Given the description of an element on the screen output the (x, y) to click on. 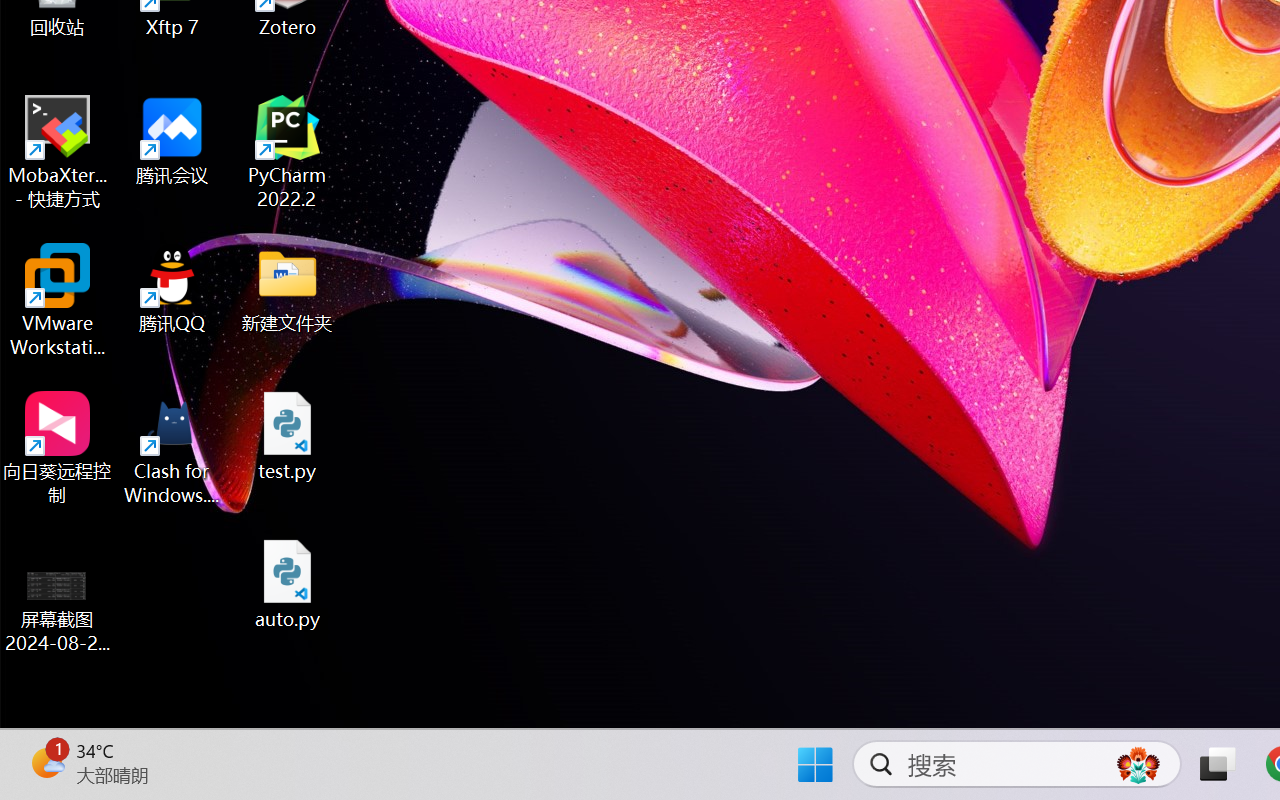
PyCharm 2022.2 (287, 152)
auto.py (287, 584)
VMware Workstation Pro (57, 300)
test.py (287, 436)
